Given the description of an element on the screen output the (x, y) to click on. 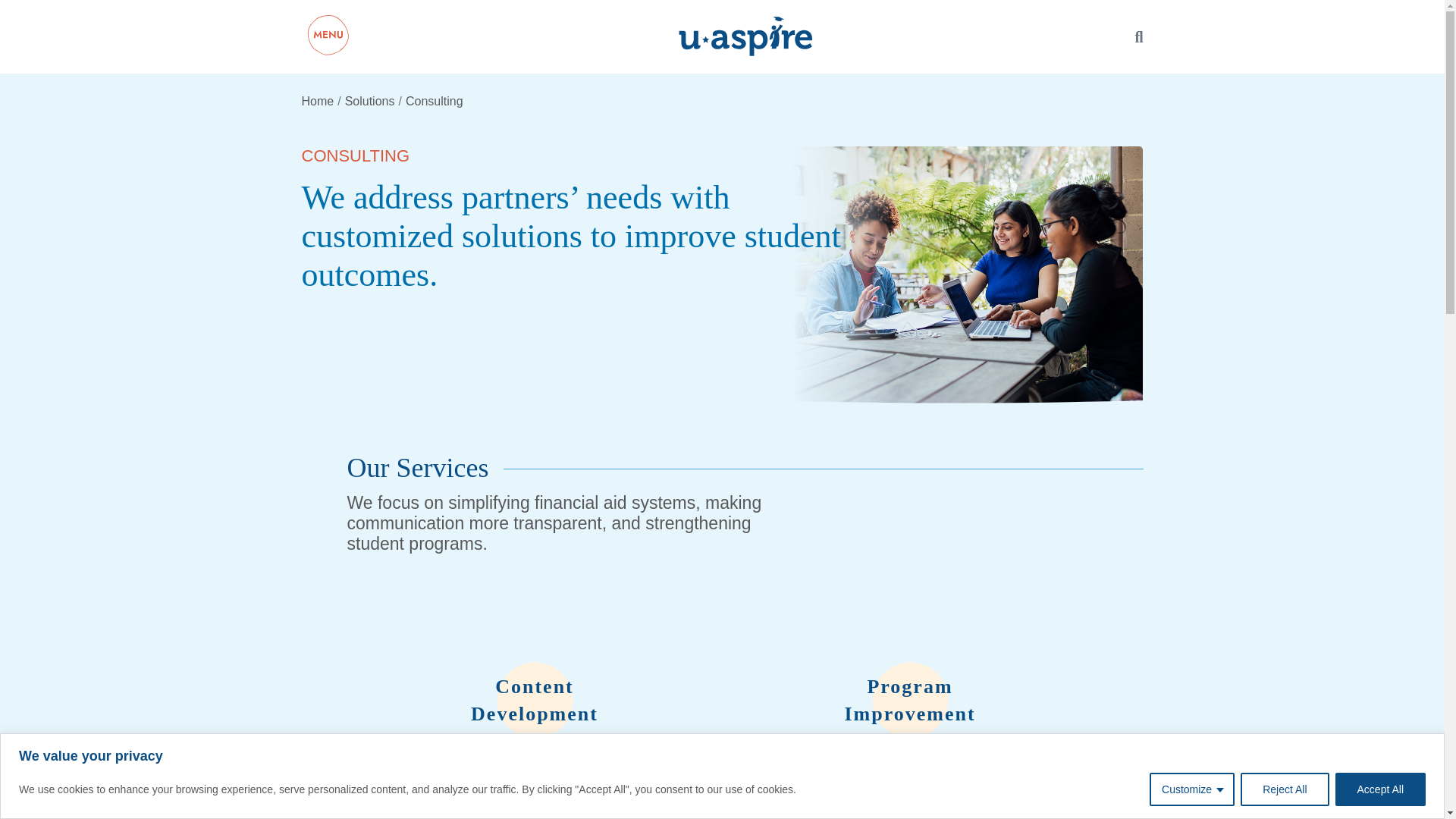
Reject All (1283, 788)
Customize (1192, 788)
Accept All (1380, 788)
